Given the description of an element on the screen output the (x, y) to click on. 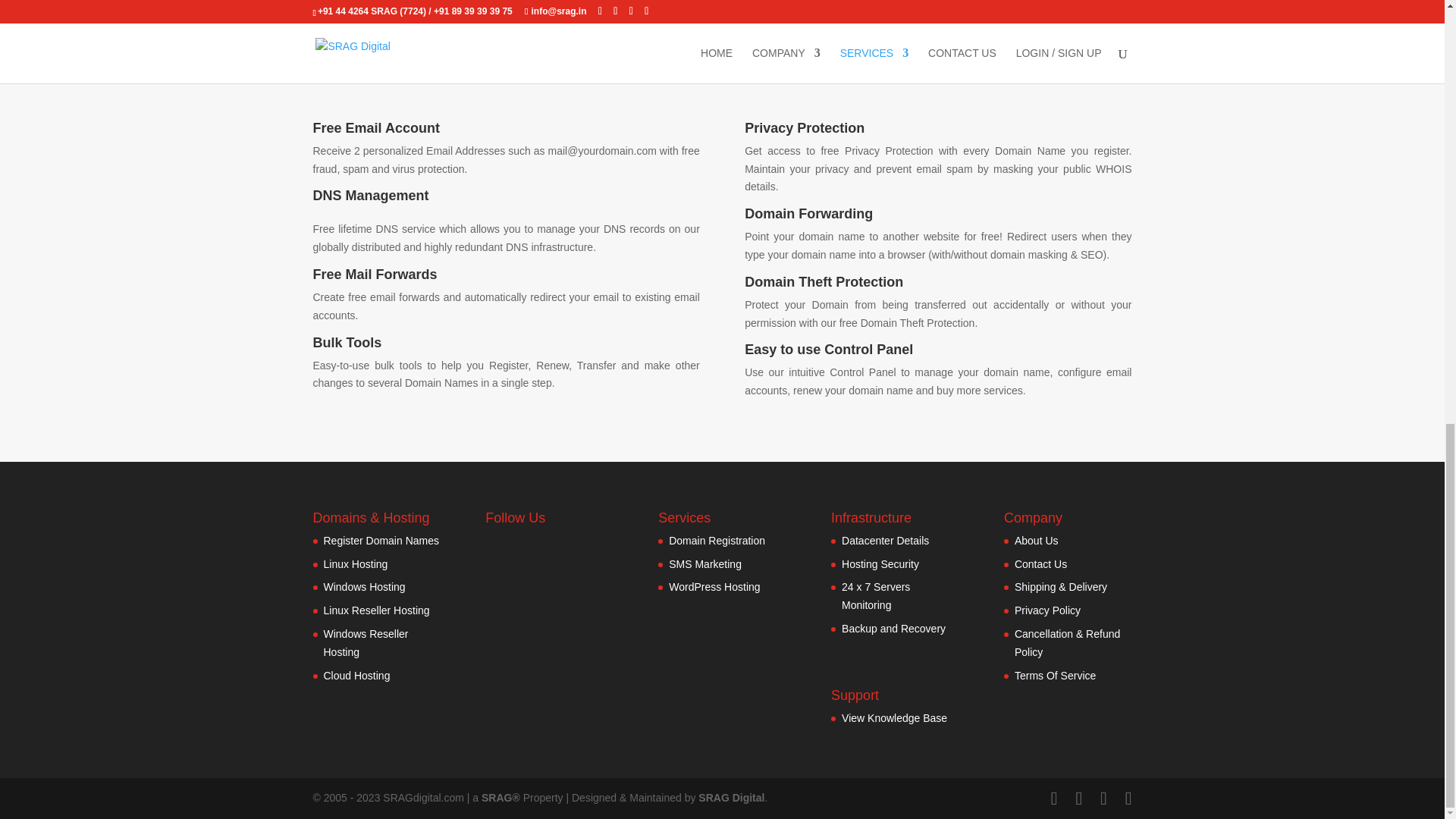
Premium Web Designing (731, 797)
SRAG Private Limited (501, 797)
Register Domain Names (381, 540)
